Given the description of an element on the screen output the (x, y) to click on. 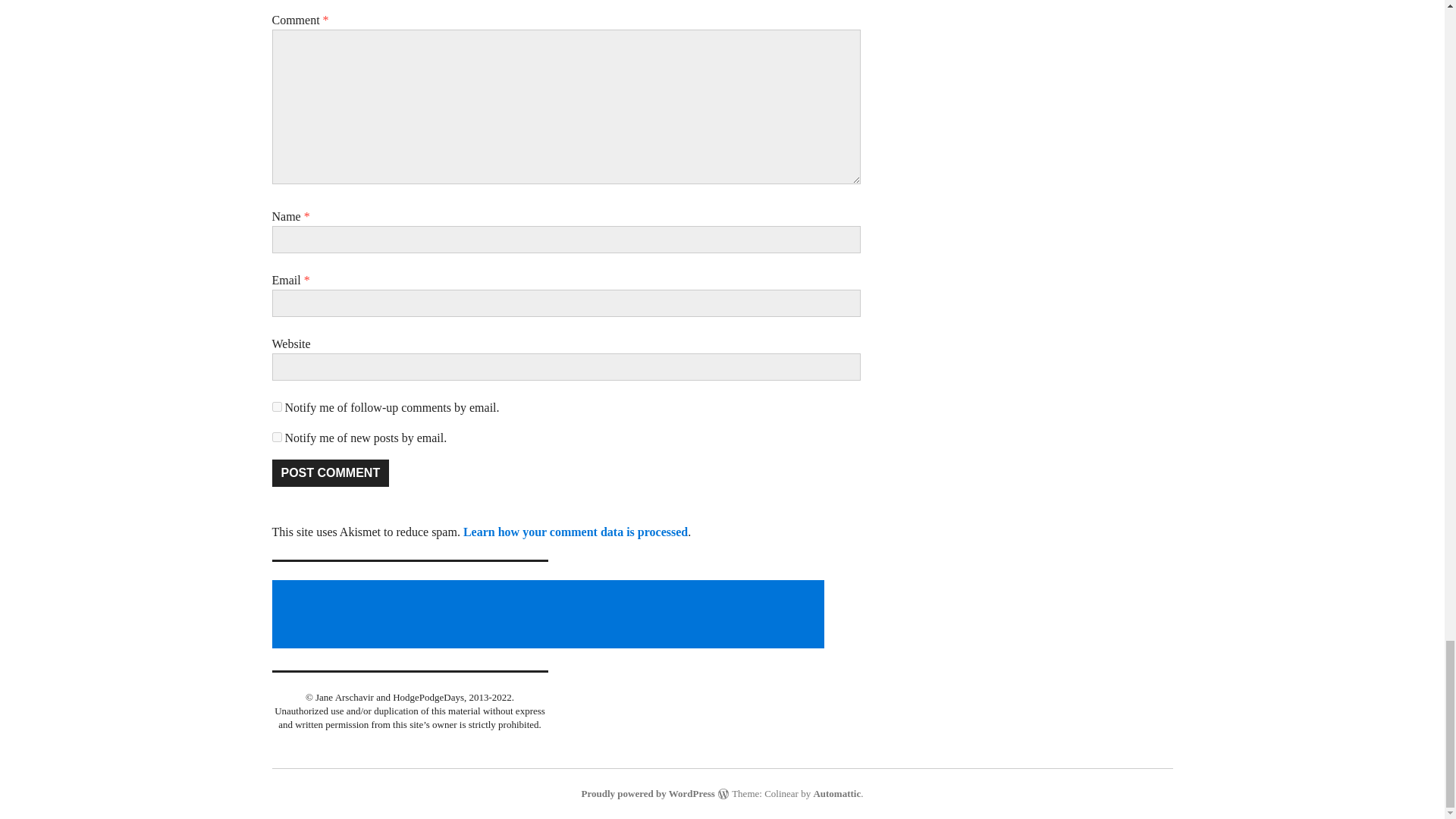
subscribe (275, 406)
subscribe (275, 437)
Post Comment (329, 472)
